Given the description of an element on the screen output the (x, y) to click on. 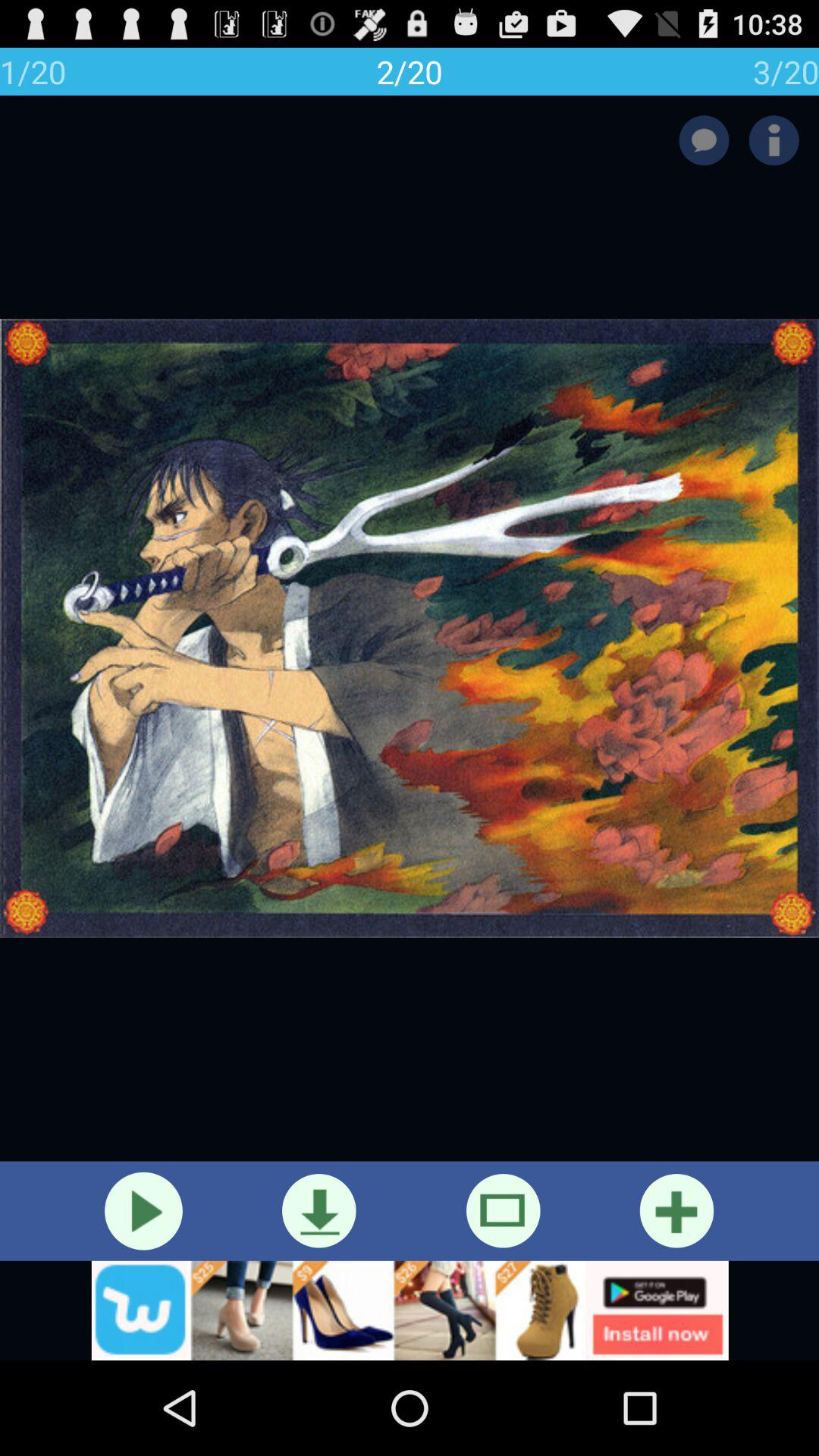
info (774, 140)
